Given the description of an element on the screen output the (x, y) to click on. 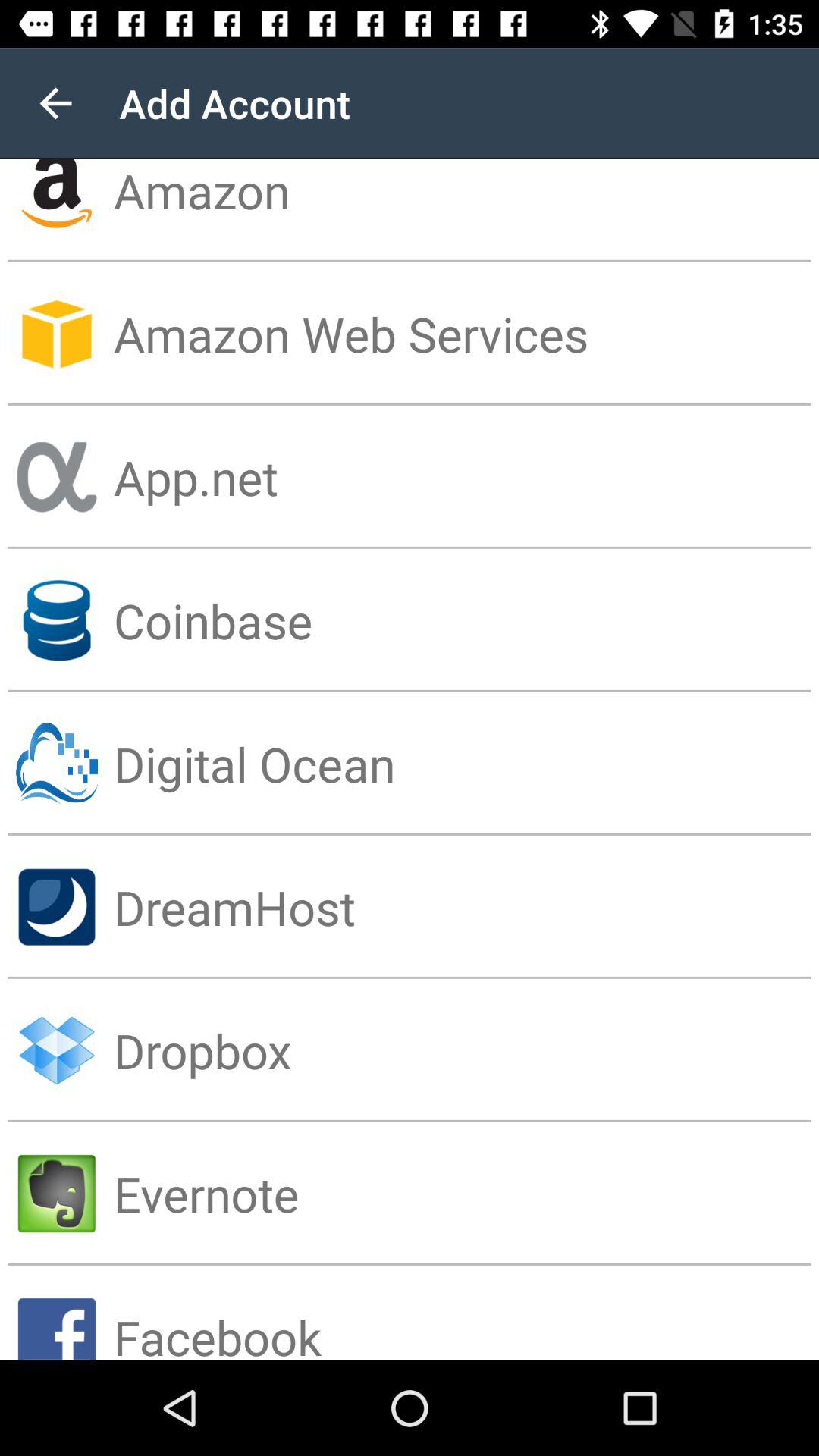
jump to the app.net item (466, 476)
